Given the description of an element on the screen output the (x, y) to click on. 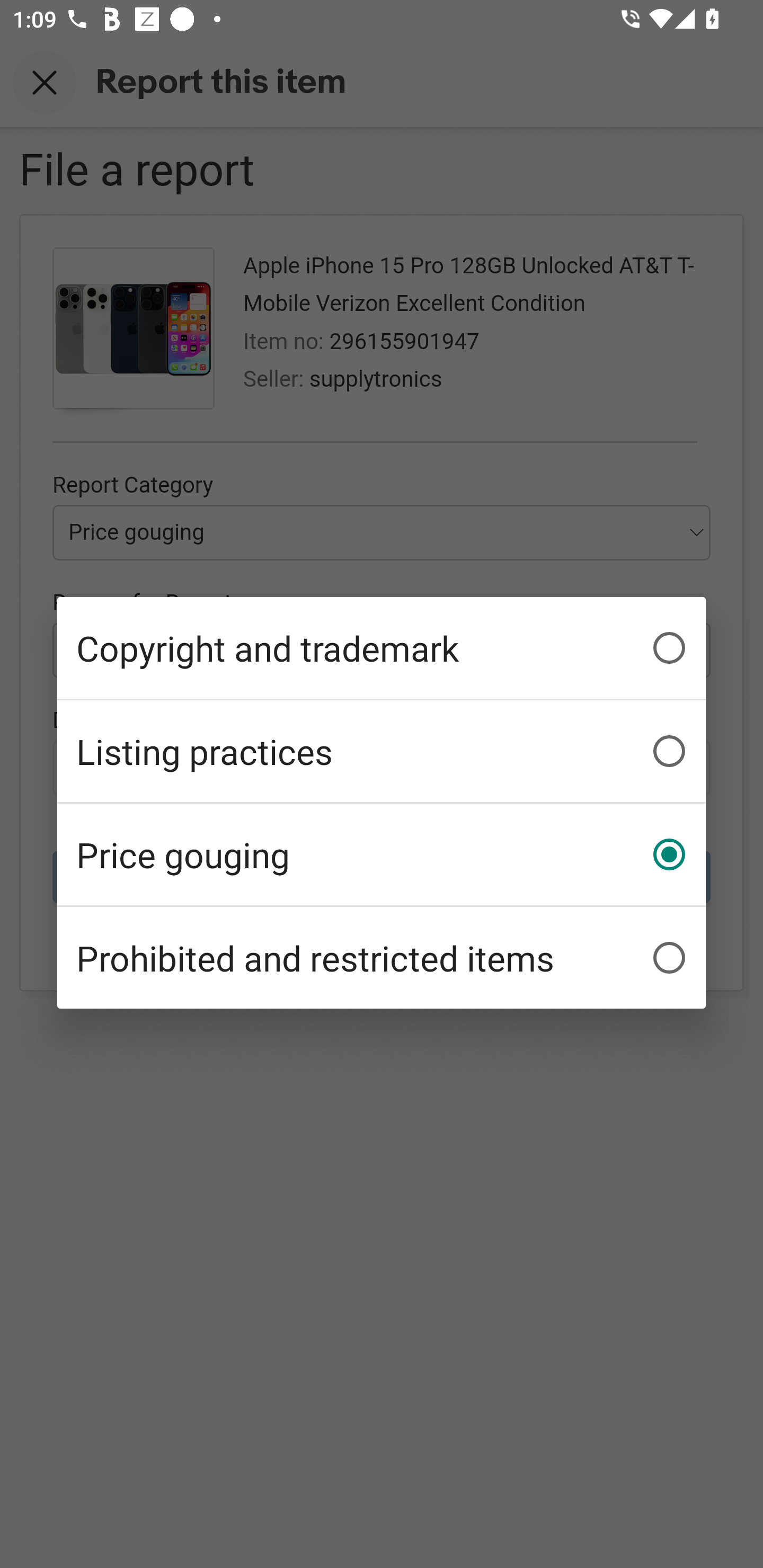
Copyright and trademark (381, 648)
Listing practices (381, 750)
Price gouging (381, 853)
Prohibited and restricted items (381, 957)
